Given the description of an element on the screen output the (x, y) to click on. 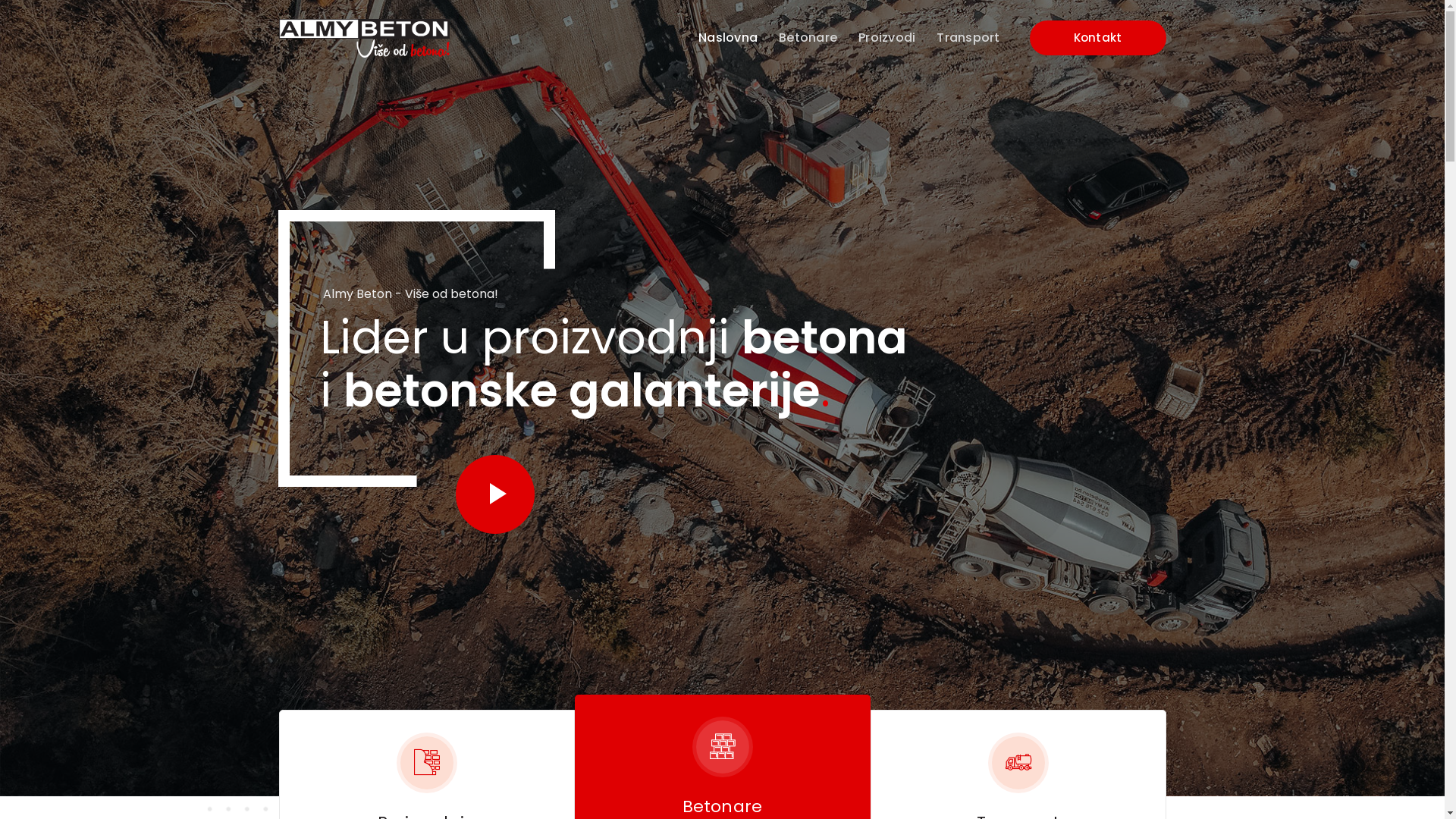
Transport Element type: text (967, 37)
Proizvodi Element type: text (886, 37)
Betonare Element type: text (807, 37)
Naslovna Element type: text (727, 37)
Kontakt Element type: text (1097, 37)
play Element type: text (494, 494)
Almy Beton Element type: hover (364, 37)
